Given the description of an element on the screen output the (x, y) to click on. 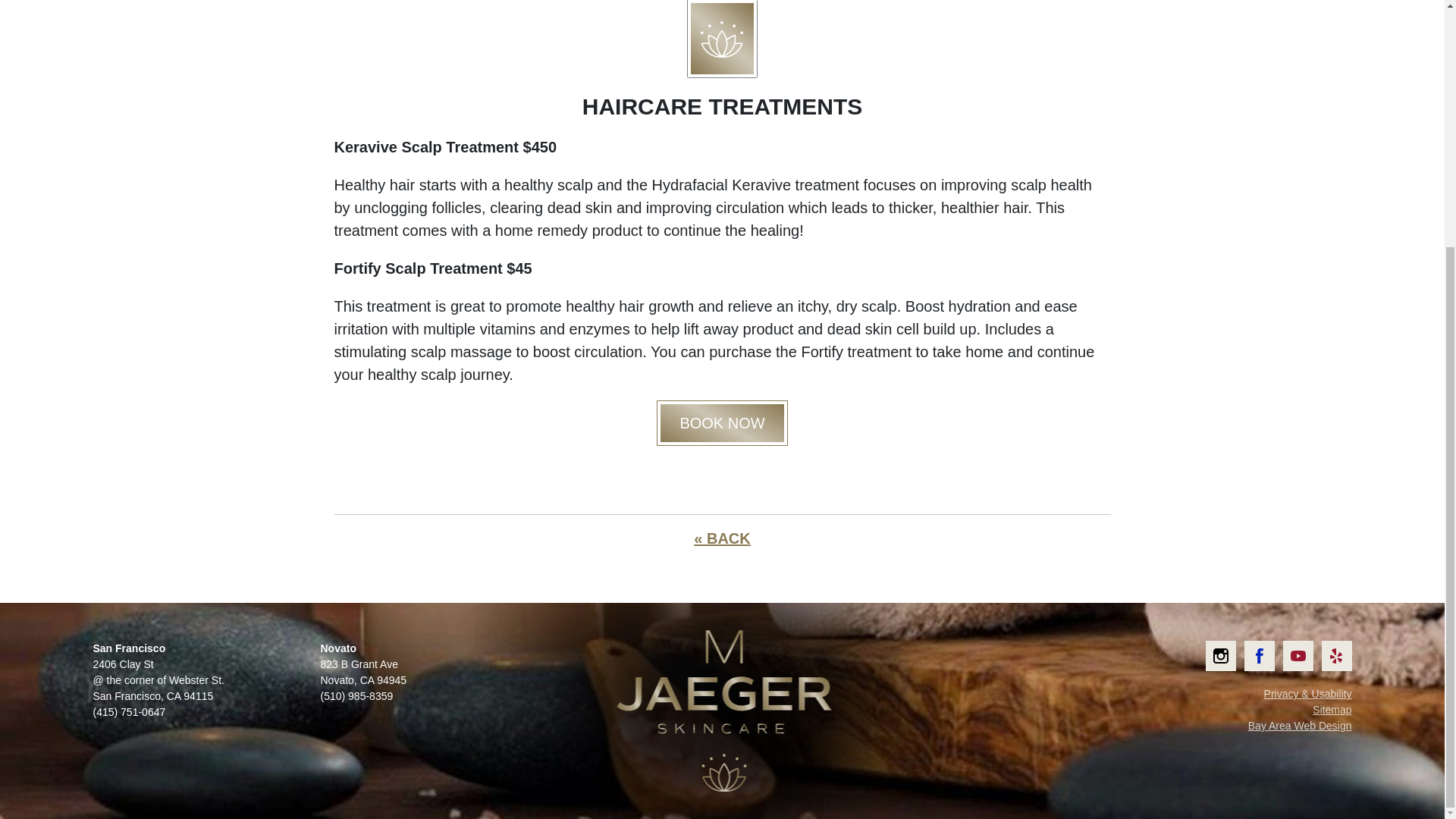
Opens in new window (1297, 655)
Sitemap (1332, 709)
Read our Yelp reviews (1335, 655)
Watch us on YouTube (1297, 655)
Follow us on Instagram (1220, 655)
Opens in new window (1259, 655)
Opens in new window (1335, 655)
Bay Area Web Design (1299, 725)
BOOK NOW (722, 423)
Like us on Facebook (1259, 655)
Opens in new window (1220, 655)
